Given the description of an element on the screen output the (x, y) to click on. 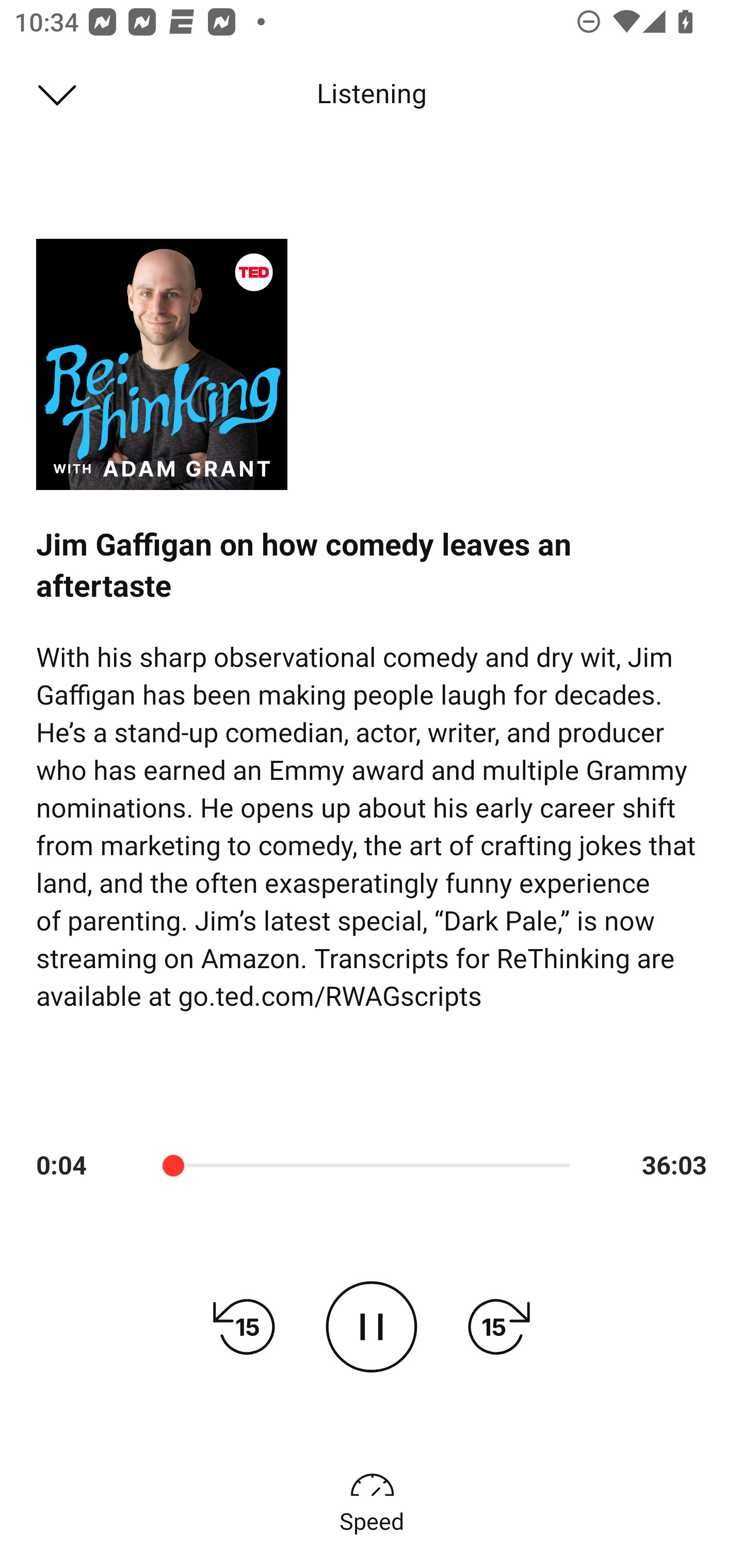
Listening (371, 93)
TED Podcasts, back (47, 92)
Speed (371, 1499)
